Given the description of an element on the screen output the (x, y) to click on. 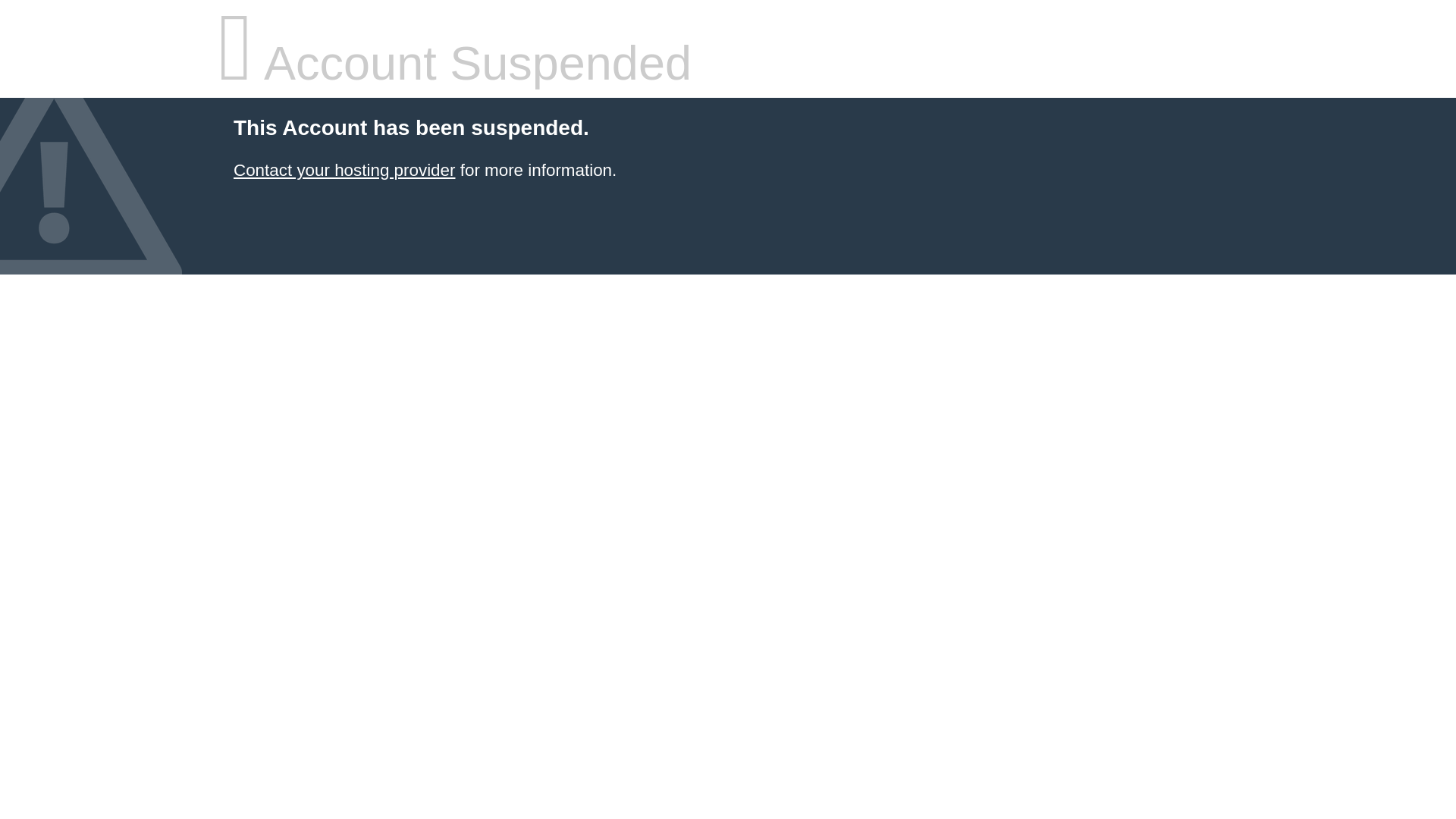
Contact your hosting provider (343, 169)
